Given the description of an element on the screen output the (x, y) to click on. 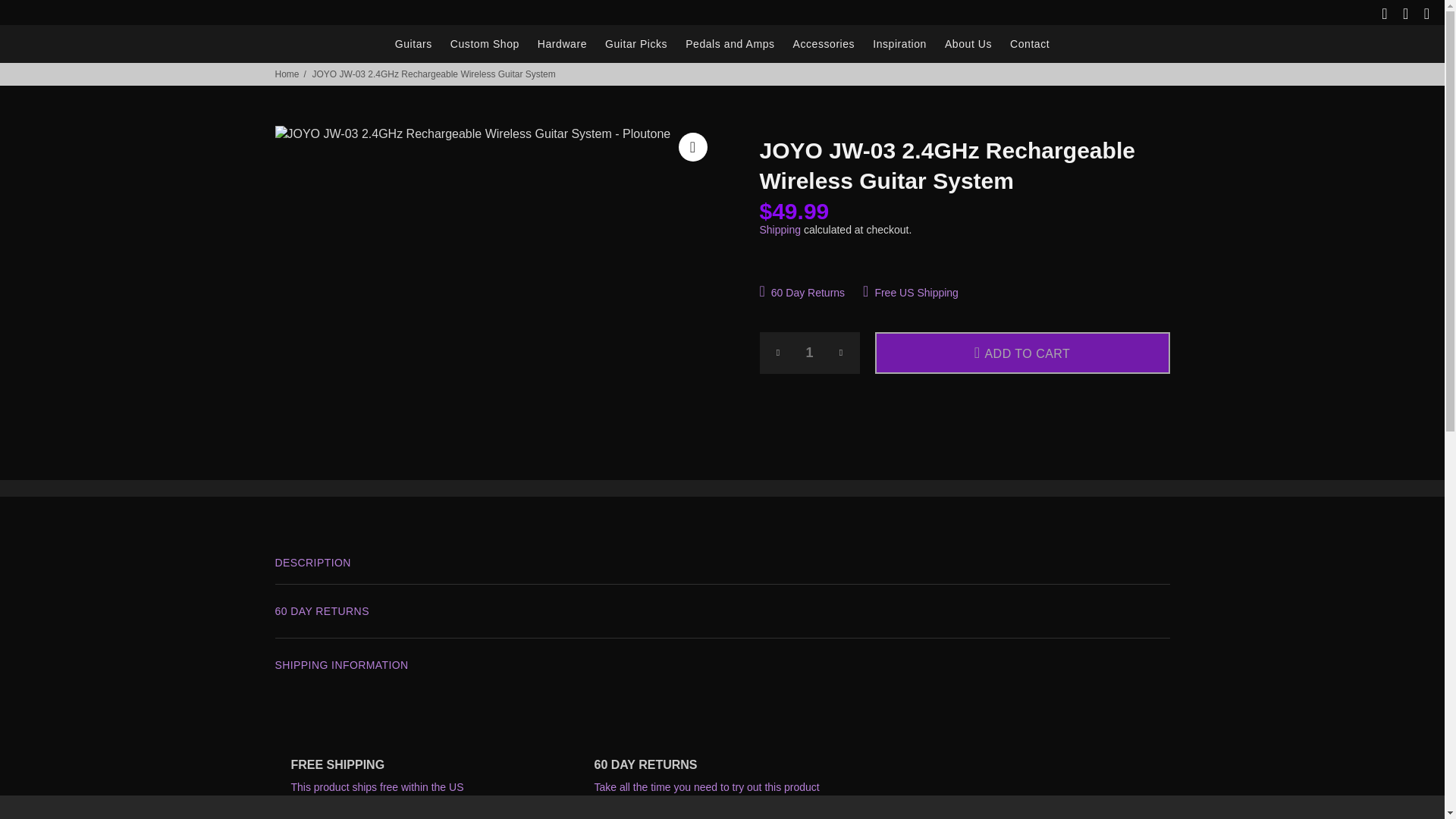
1 (810, 352)
